Given the description of an element on the screen output the (x, y) to click on. 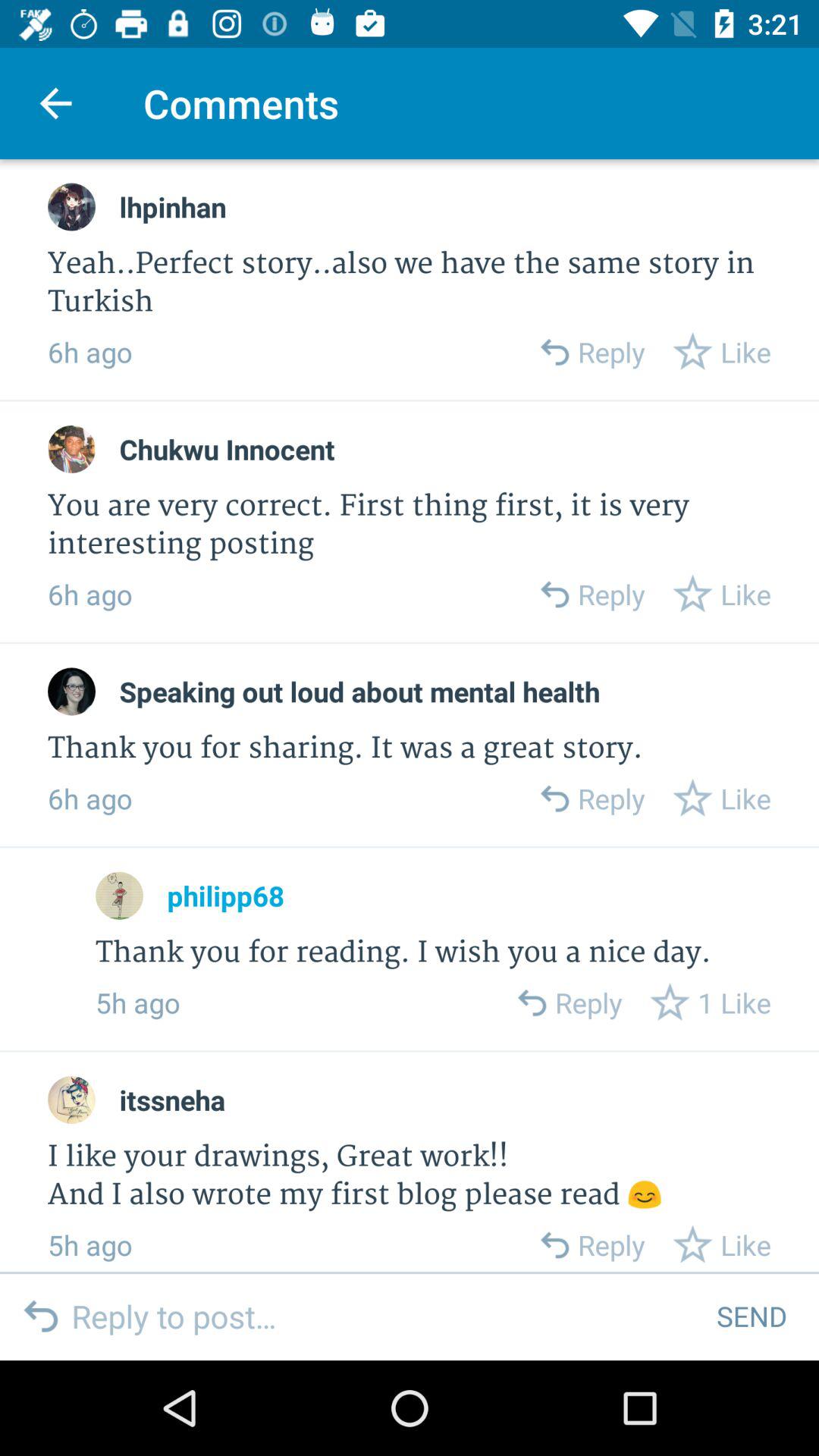
open itssneha (172, 1099)
